Given the description of an element on the screen output the (x, y) to click on. 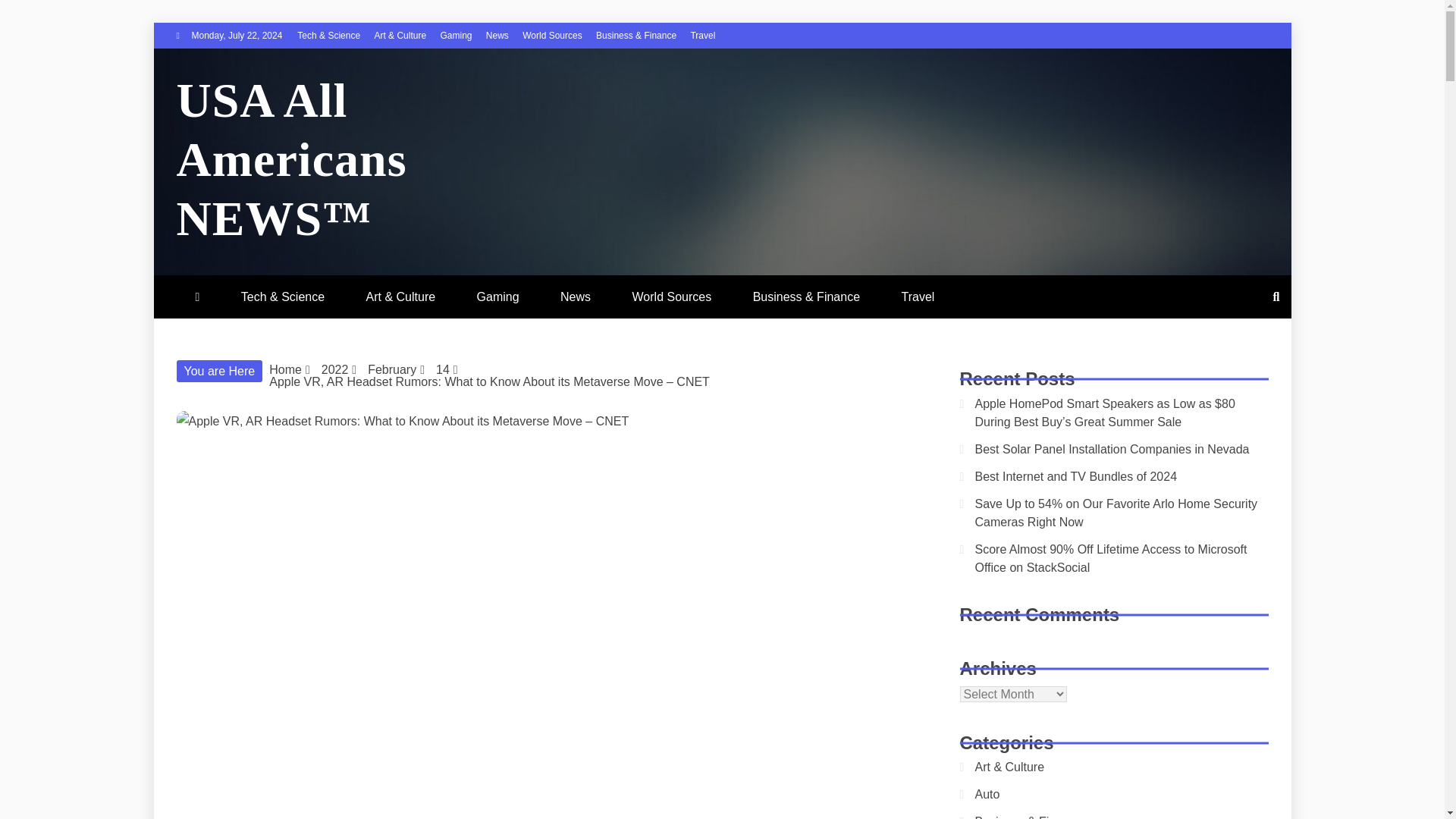
Gaming (455, 35)
February (392, 369)
Travel (702, 35)
Travel (916, 296)
14 (442, 369)
News (497, 35)
World Sources (551, 35)
Home (285, 369)
2022 (335, 369)
World Sources (672, 296)
Gaming (497, 296)
